Given the description of an element on the screen output the (x, y) to click on. 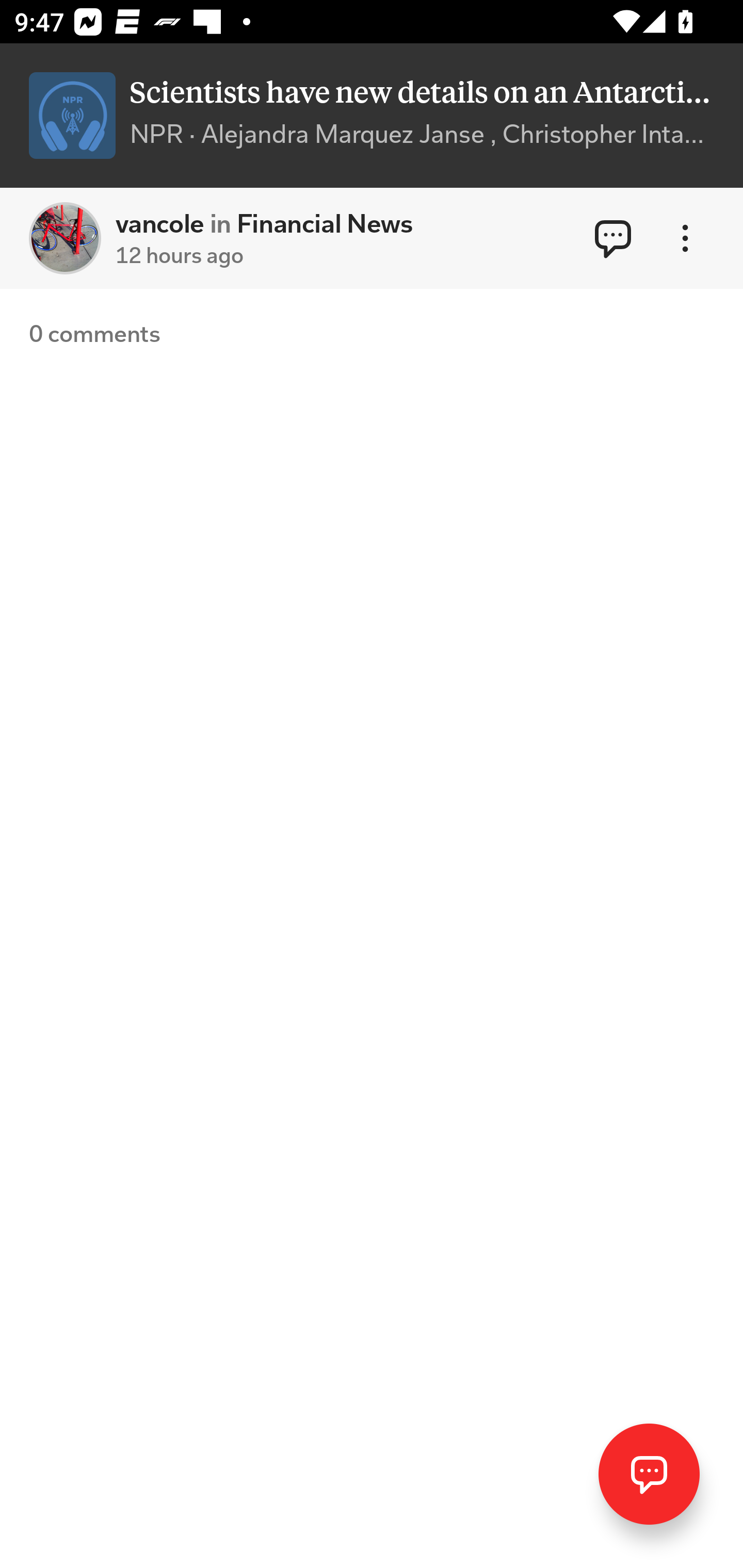
vancole (64, 238)
